Given the description of an element on the screen output the (x, y) to click on. 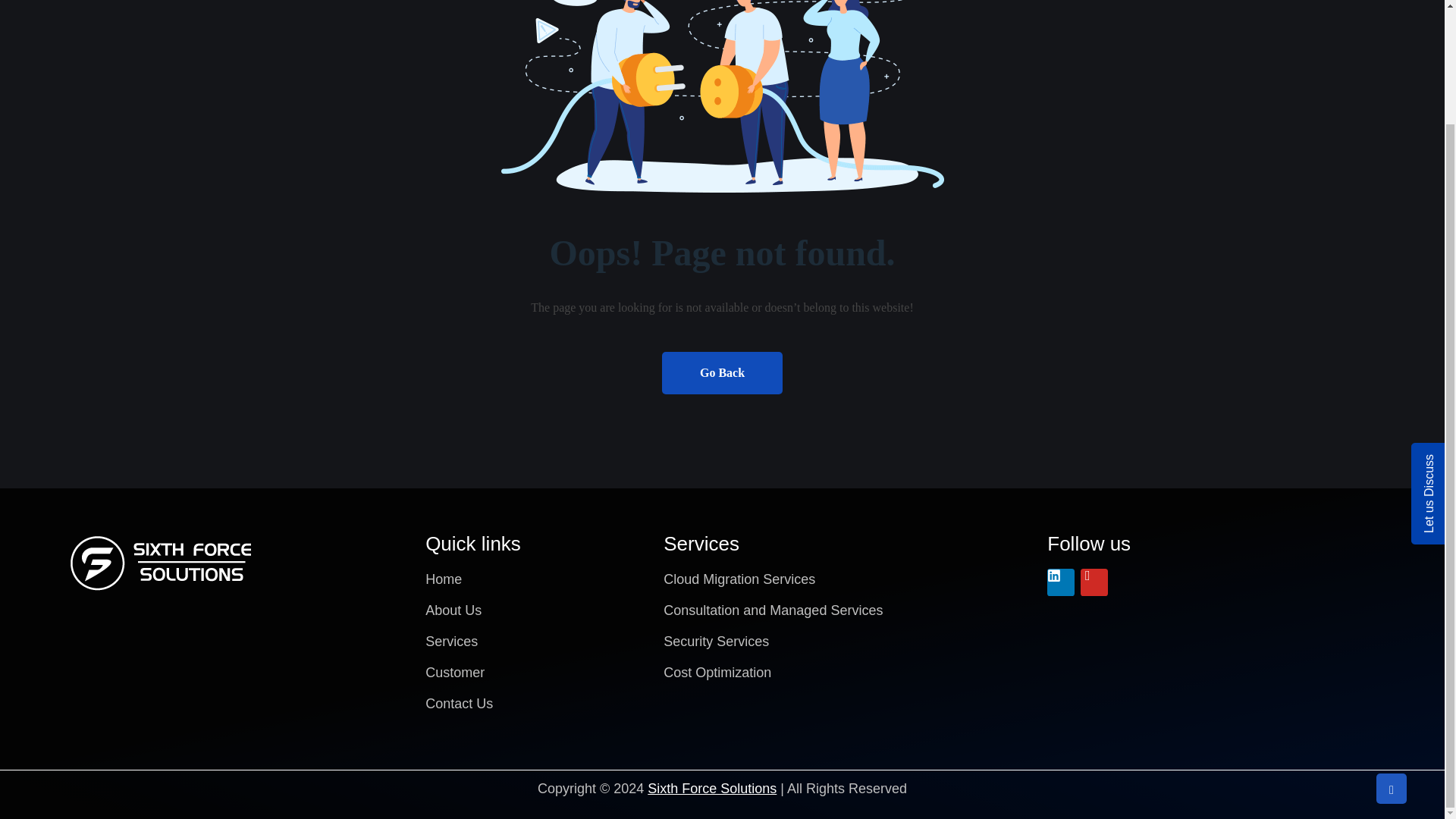
Go Back (722, 372)
Consultation and Managed Services (847, 614)
Customer (536, 676)
Cloud Migration Services (847, 583)
Services (536, 645)
About Us (536, 614)
Contact Us (536, 707)
Home (536, 583)
Cost Optimization (847, 676)
6fs footer (162, 562)
